Given the description of an element on the screen output the (x, y) to click on. 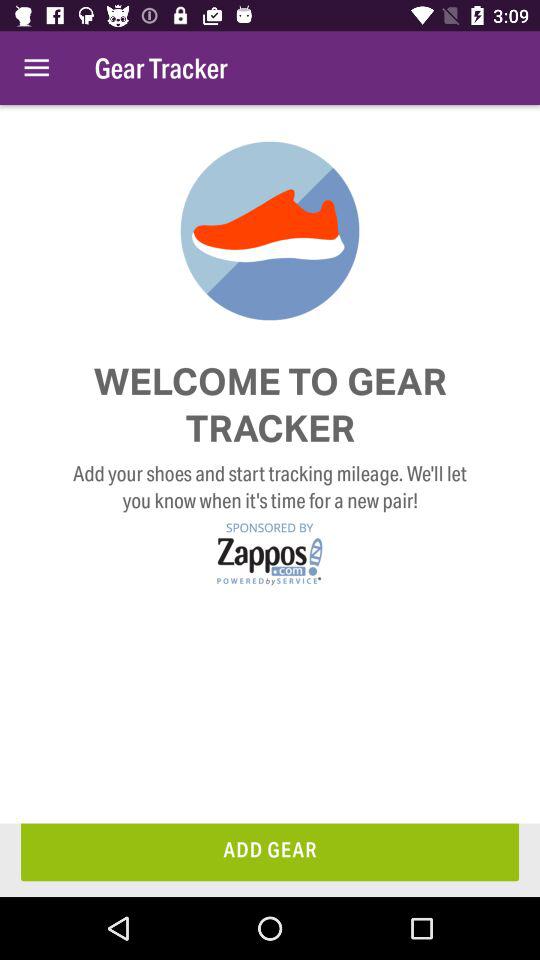
launch add gear icon (270, 852)
